Given the description of an element on the screen output the (x, y) to click on. 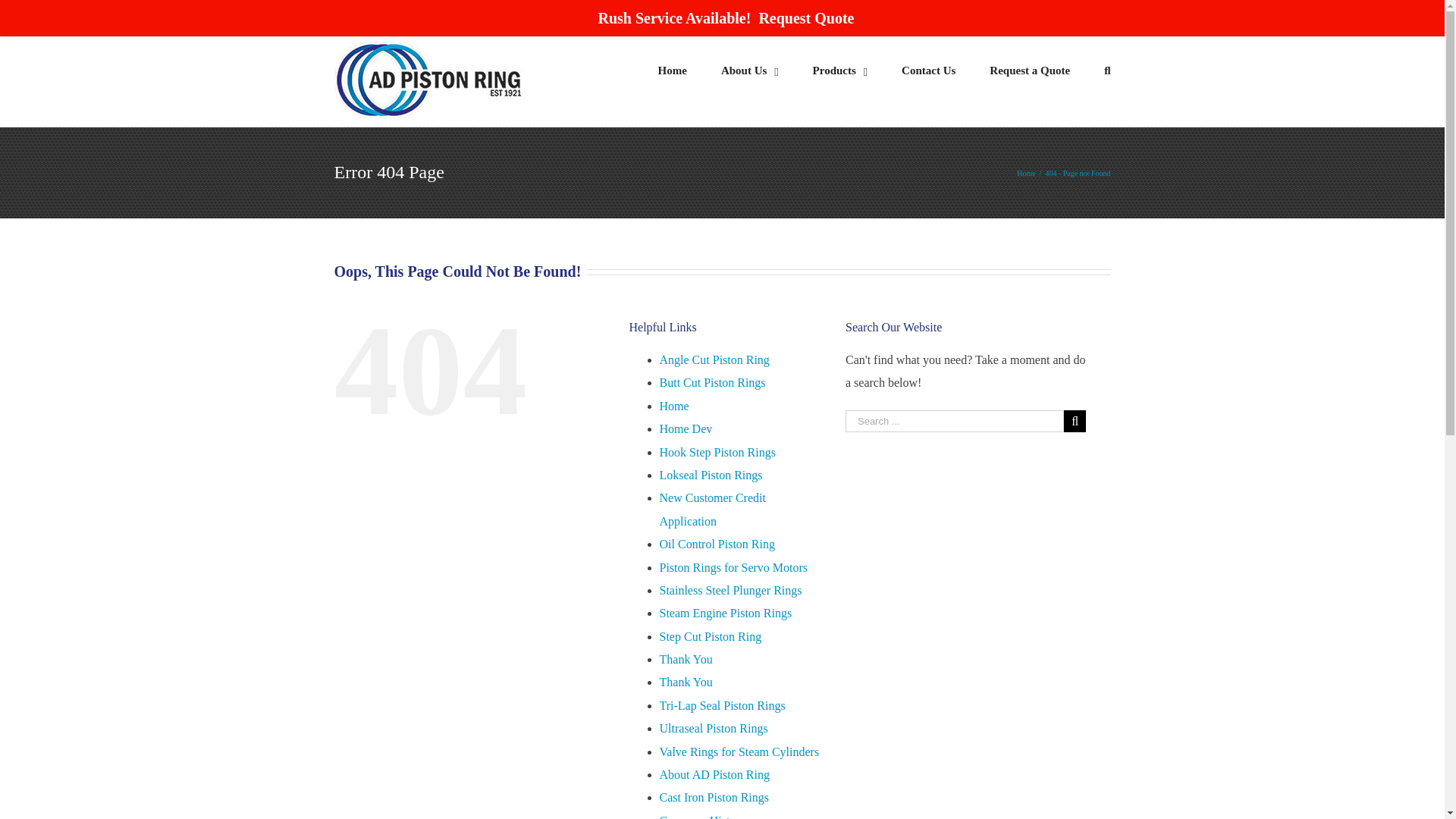
Home (1025, 172)
Butt Cut Piston Rings (712, 382)
Home (673, 405)
Angle Cut Piston Ring (714, 359)
Hook Step Piston Rings (717, 451)
Request a Quote (1030, 70)
Home Dev (686, 428)
